Given the description of an element on the screen output the (x, y) to click on. 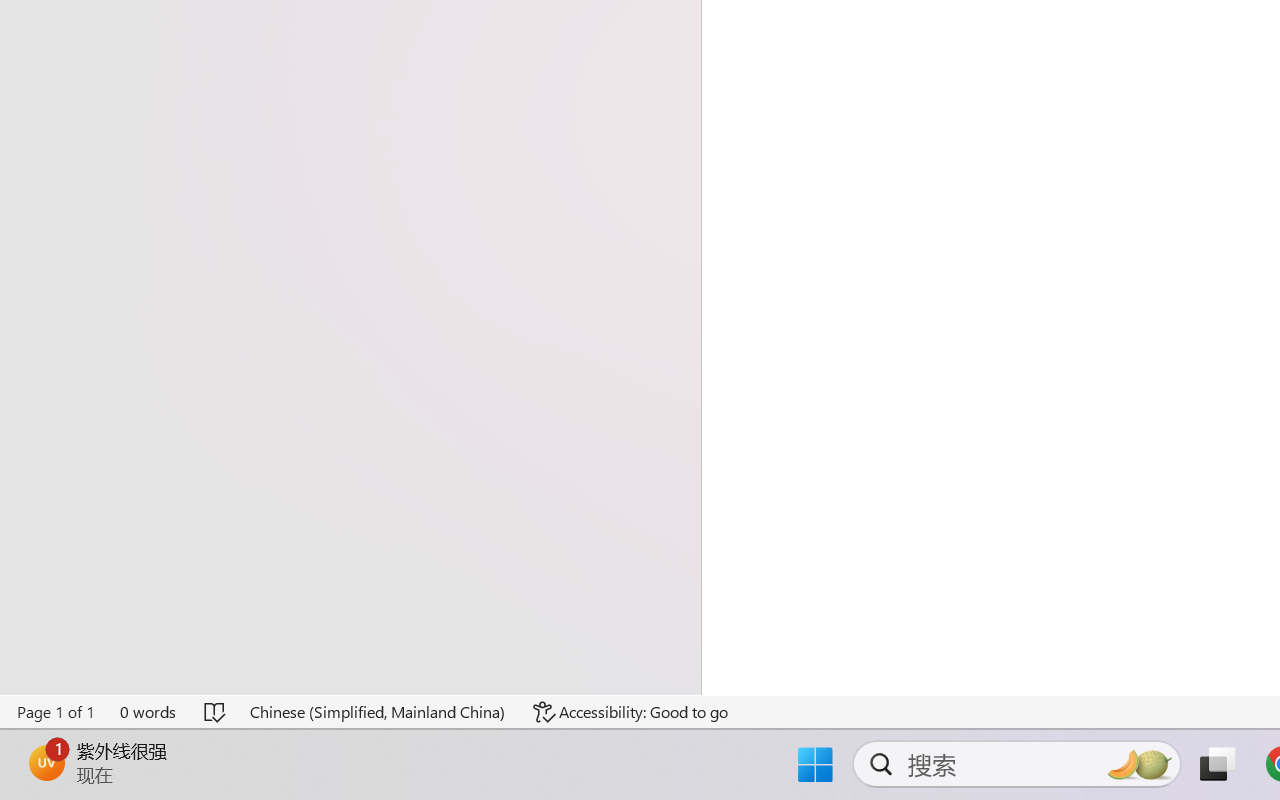
Language Chinese (Simplified, Mainland China) (378, 712)
